Given the description of an element on the screen output the (x, y) to click on. 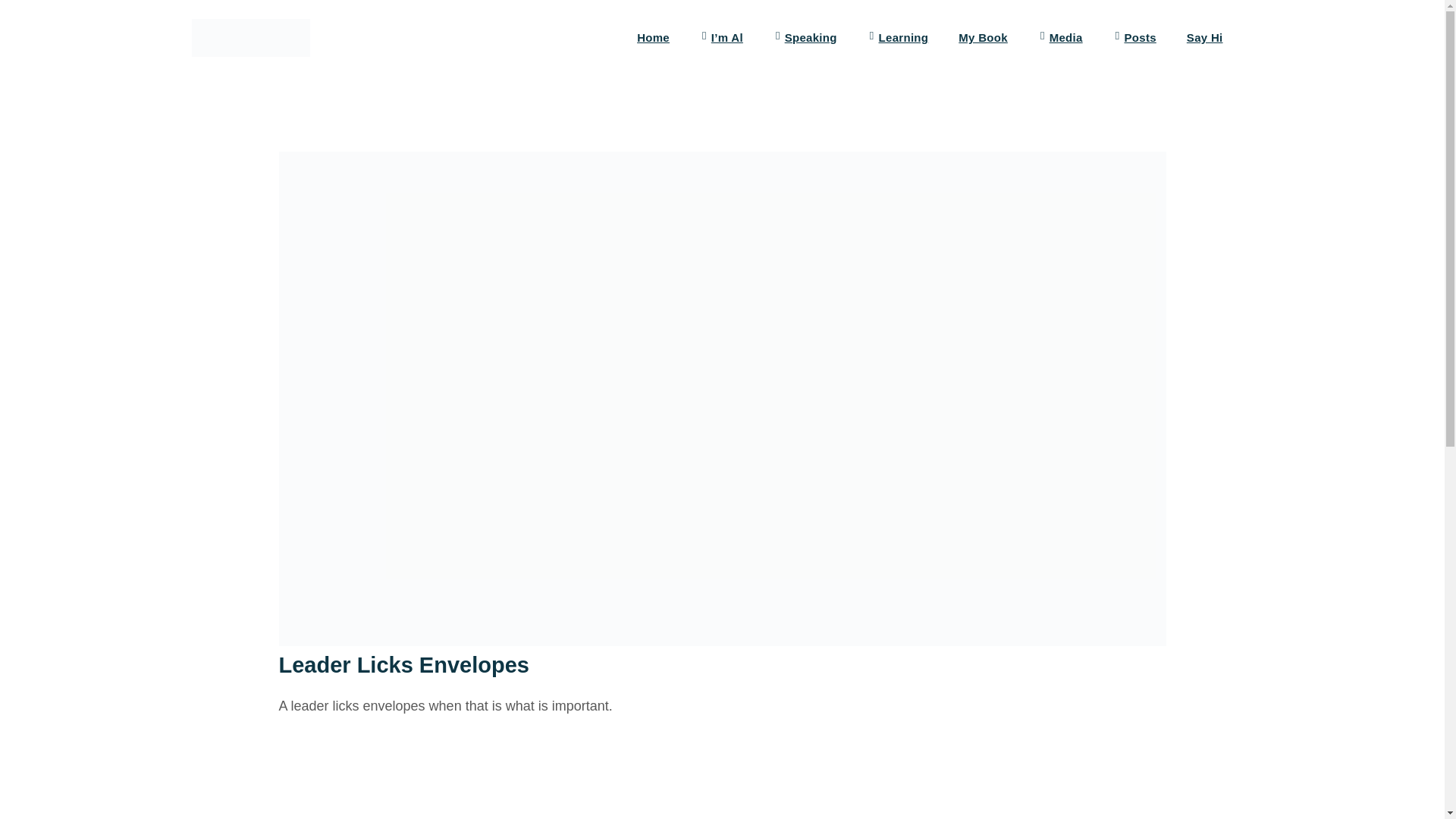
Home (653, 38)
Speaking (805, 38)
My Book (982, 38)
Leader Licks Envelopes (491, 776)
Media (1060, 38)
Posts (1134, 38)
Al Comeaux (249, 37)
Learning (897, 38)
Say Hi (1204, 38)
